Given the description of an element on the screen output the (x, y) to click on. 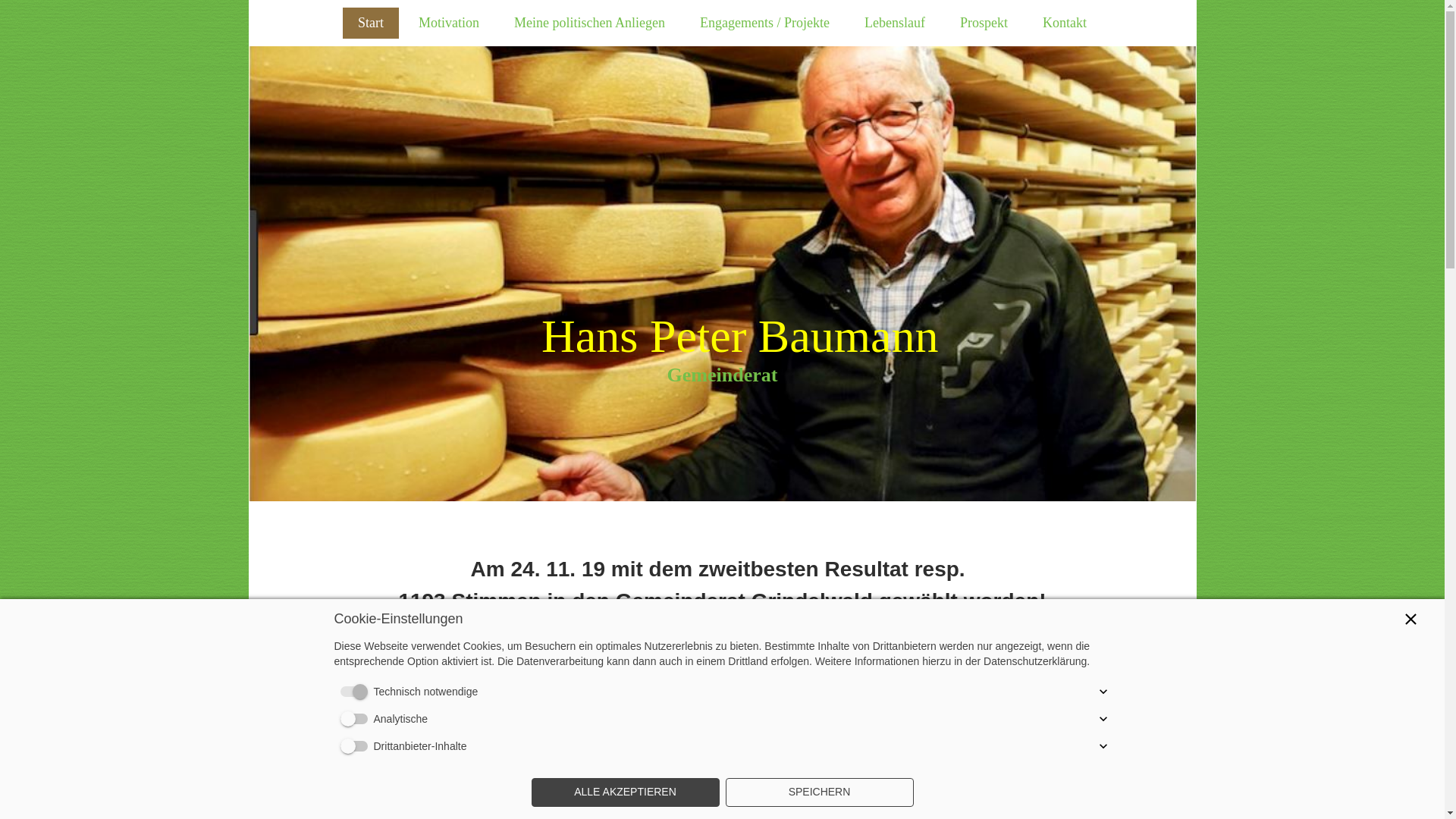
ALLE AKZEPTIEREN Element type: text (624, 792)
Start Element type: text (370, 22)
Motivation Element type: text (448, 22)
Engagements / Projekte Element type: text (764, 22)
Kontakt Element type: text (1064, 22)
Lebenslauf Element type: text (894, 22)
Meine politischen Anliegen Element type: text (589, 22)
SPEICHERN Element type: text (818, 792)
Prospekt Element type: text (983, 22)
